Given the description of an element on the screen output the (x, y) to click on. 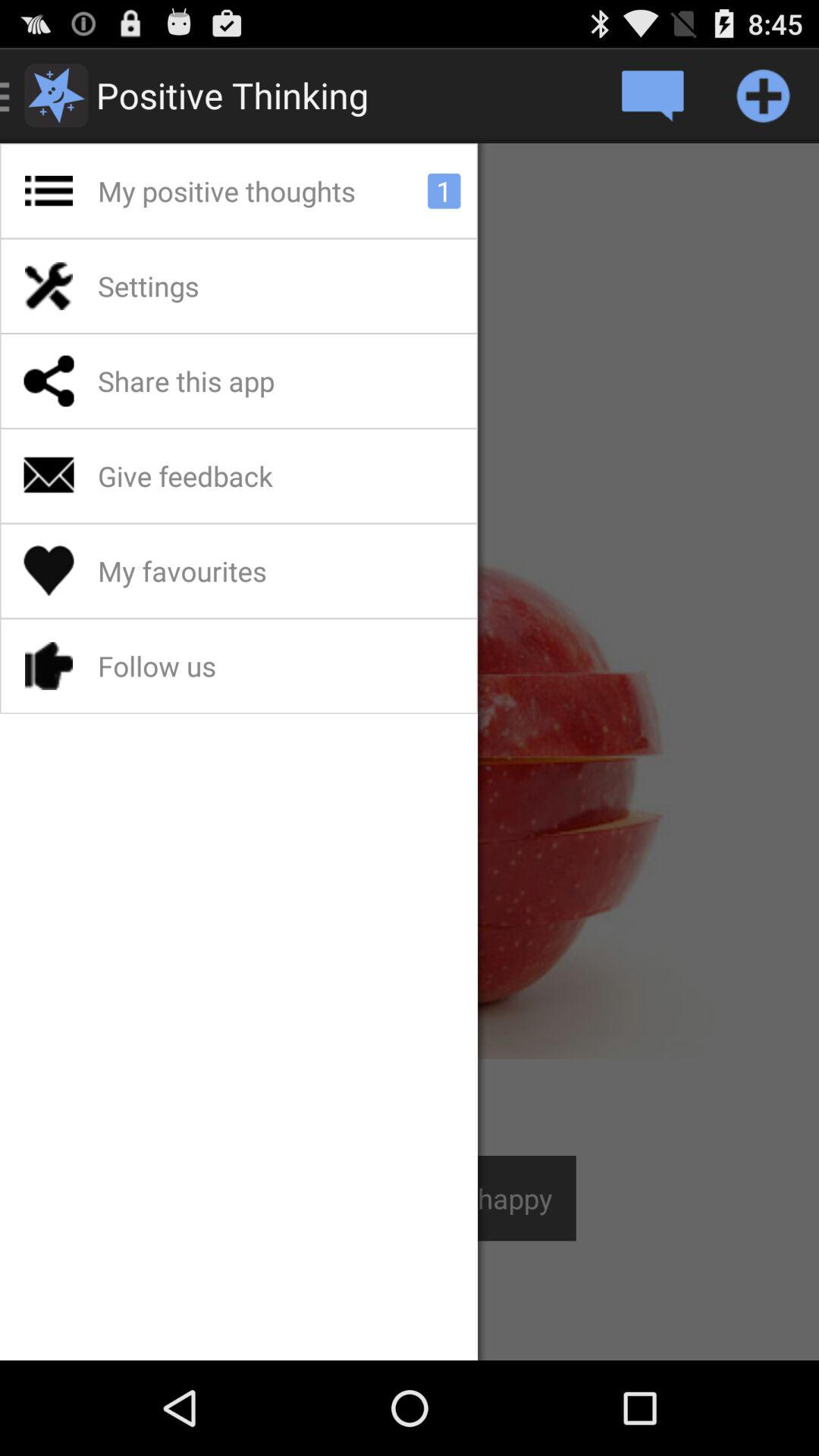
open message (651, 95)
